Given the description of an element on the screen output the (x, y) to click on. 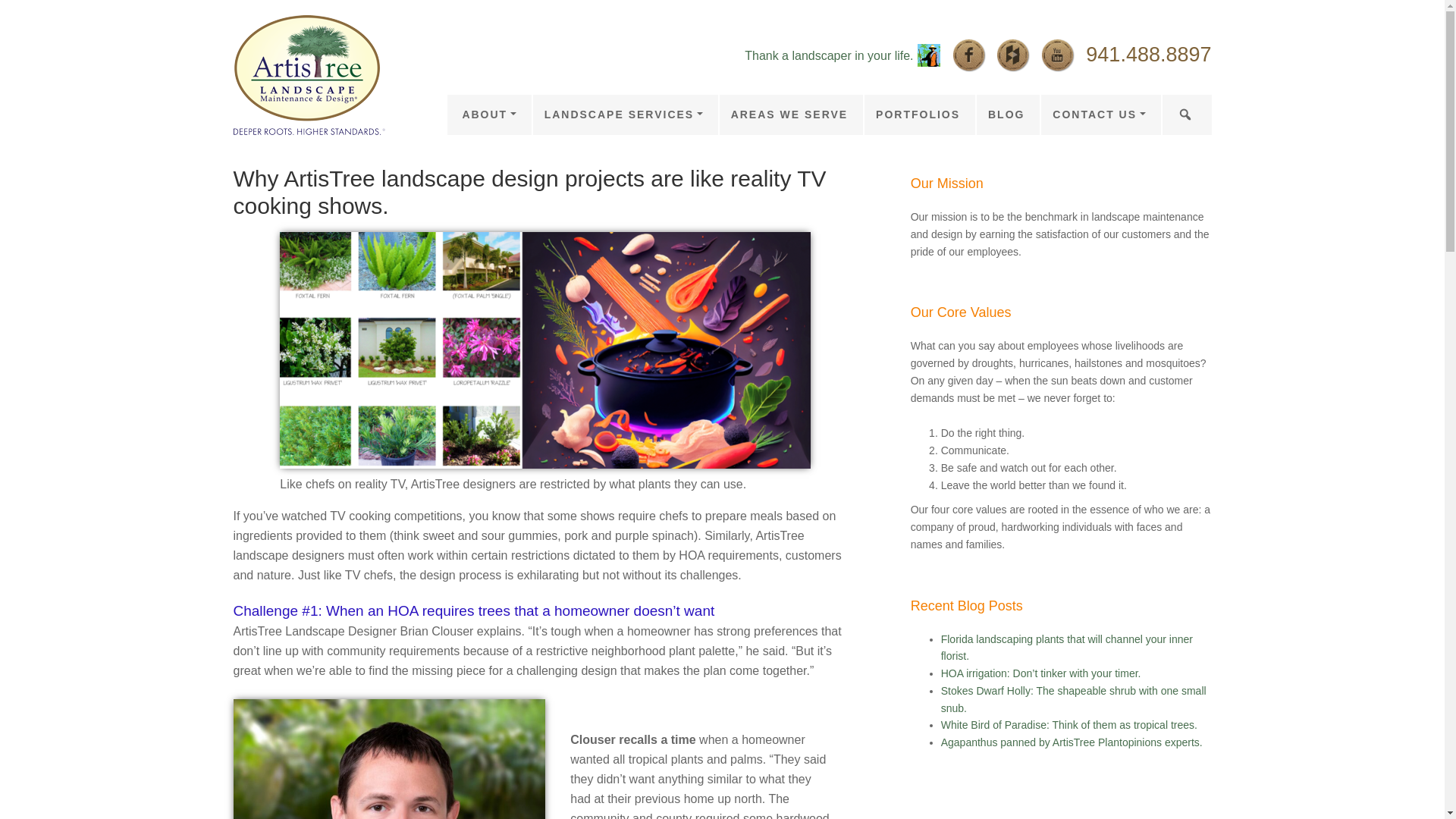
Thank a landscaper in your life. (828, 54)
CONTACT US (1097, 115)
LANDSCAPE SERVICES (622, 115)
PORTFOLIOS (917, 115)
941.488.8897 (1148, 54)
BLOG (1005, 115)
AREAS WE SERVE (788, 115)
ABOUT (488, 115)
